Given the description of an element on the screen output the (x, y) to click on. 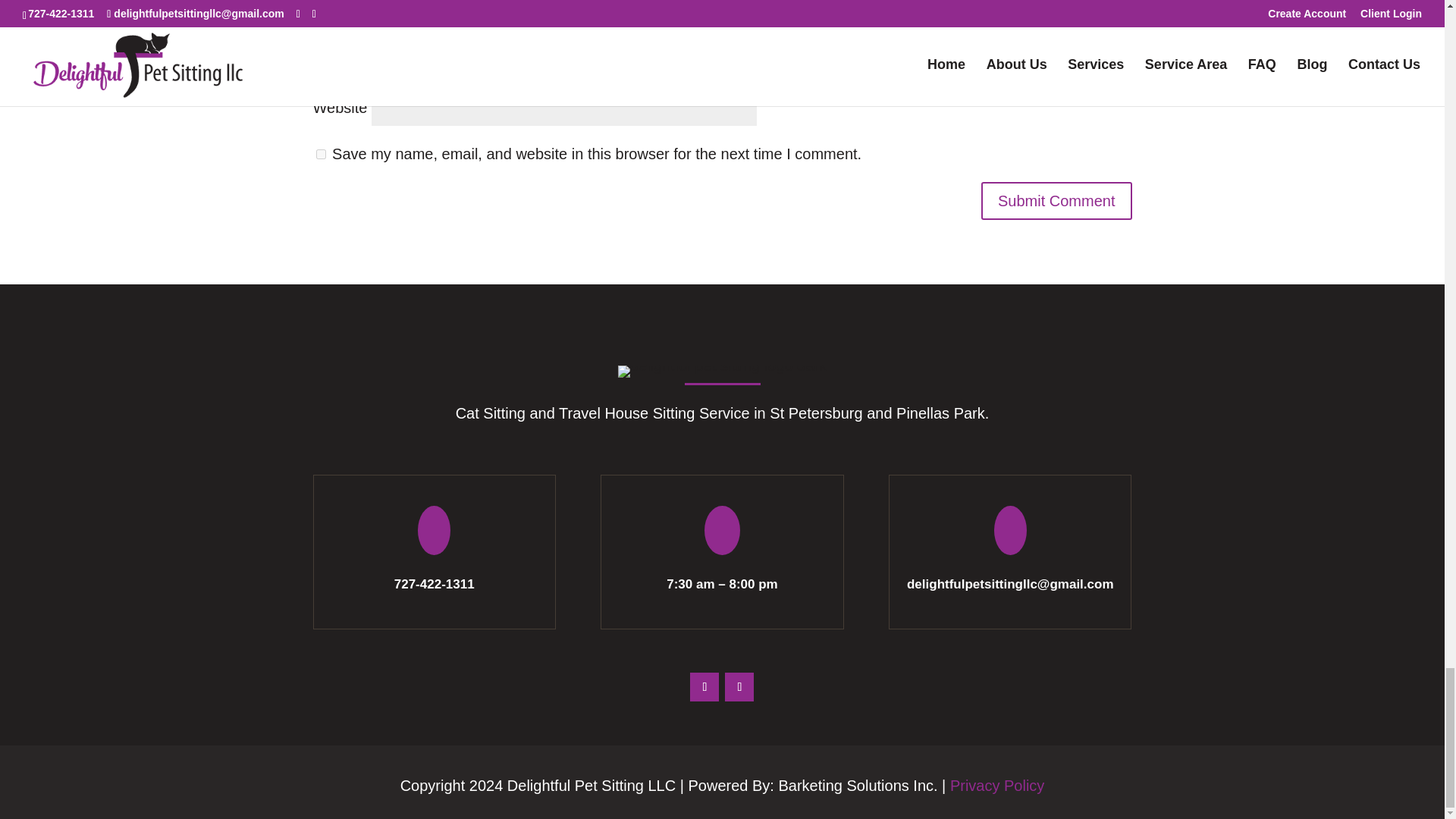
Follow on Facebook (704, 686)
delightful pet sitting logo dark (722, 371)
Follow on Instagram (739, 686)
yes (319, 153)
Submit Comment (1056, 200)
